Given the description of an element on the screen output the (x, y) to click on. 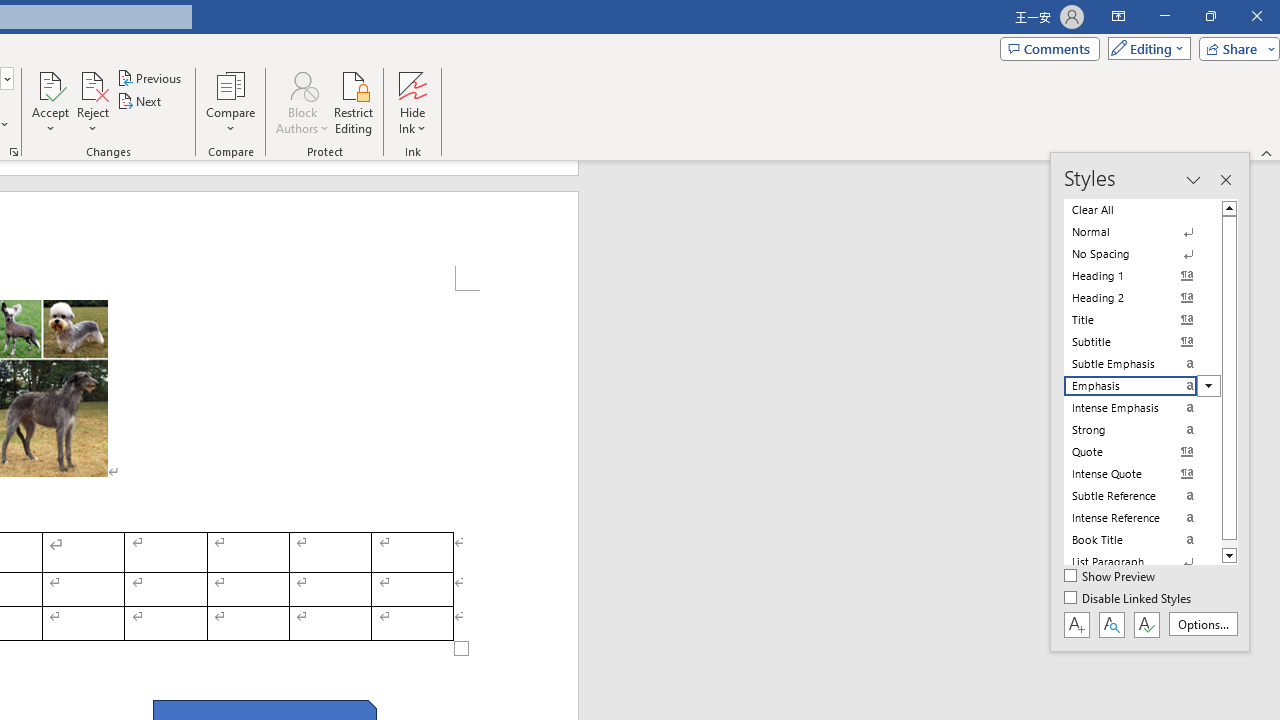
List Paragraph (1142, 561)
Show Preview (1110, 577)
No Spacing (1142, 253)
Options... (1202, 623)
Subtle Emphasis (1142, 363)
Compare (230, 102)
Accept and Move to Next (50, 84)
Block Authors (302, 102)
Quote (1142, 451)
